Given the description of an element on the screen output the (x, y) to click on. 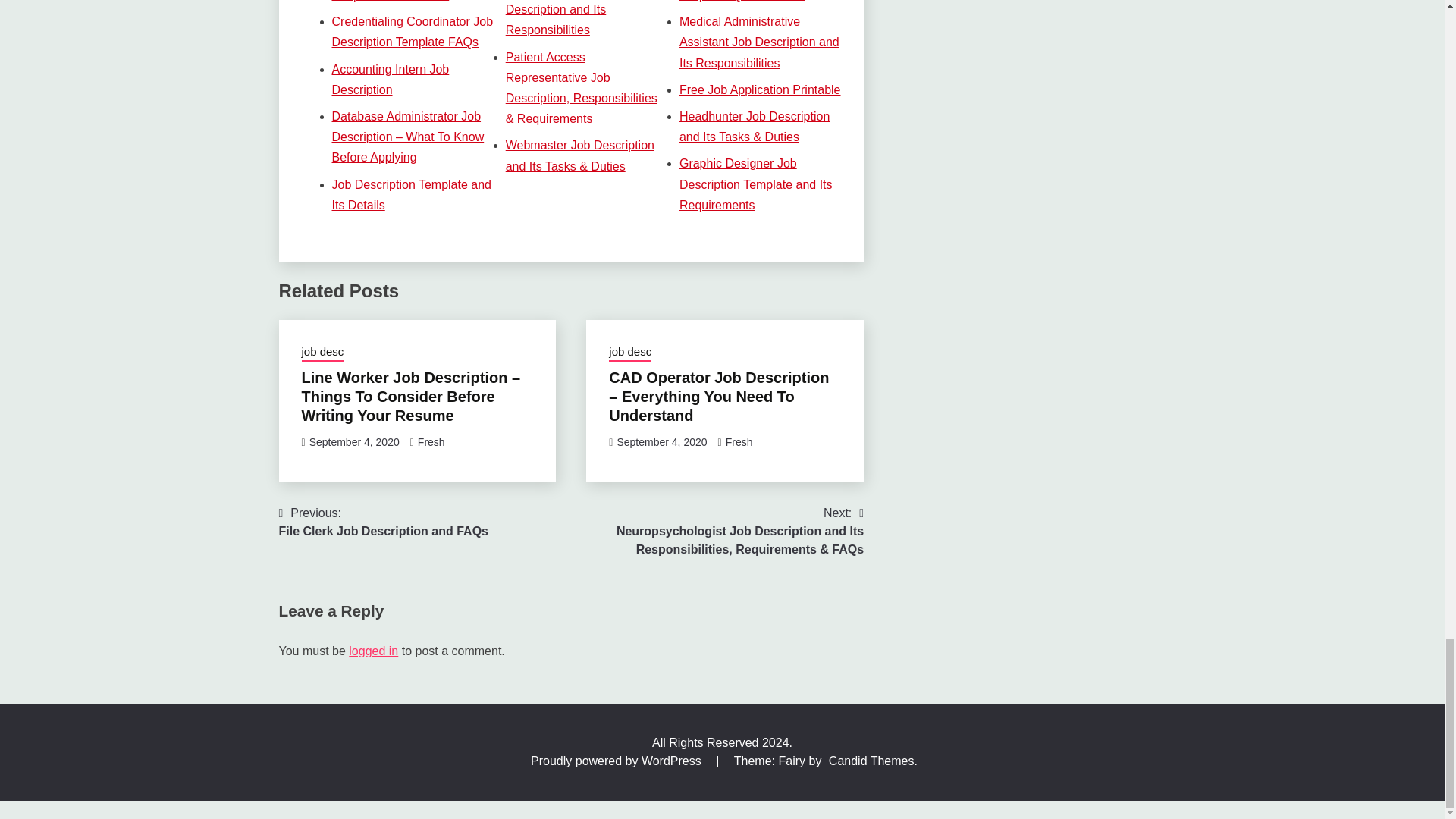
Credentialing Coordinator Job Description Template FAQs (412, 31)
Job Description Template and Its Details (411, 194)
Accounting Intern Job Description (390, 79)
Credentialing Coordinator Job Description Template FAQs (412, 31)
Accounting Intern Job Description (390, 79)
Job Description Template and Its Details (411, 194)
